Given the description of an element on the screen output the (x, y) to click on. 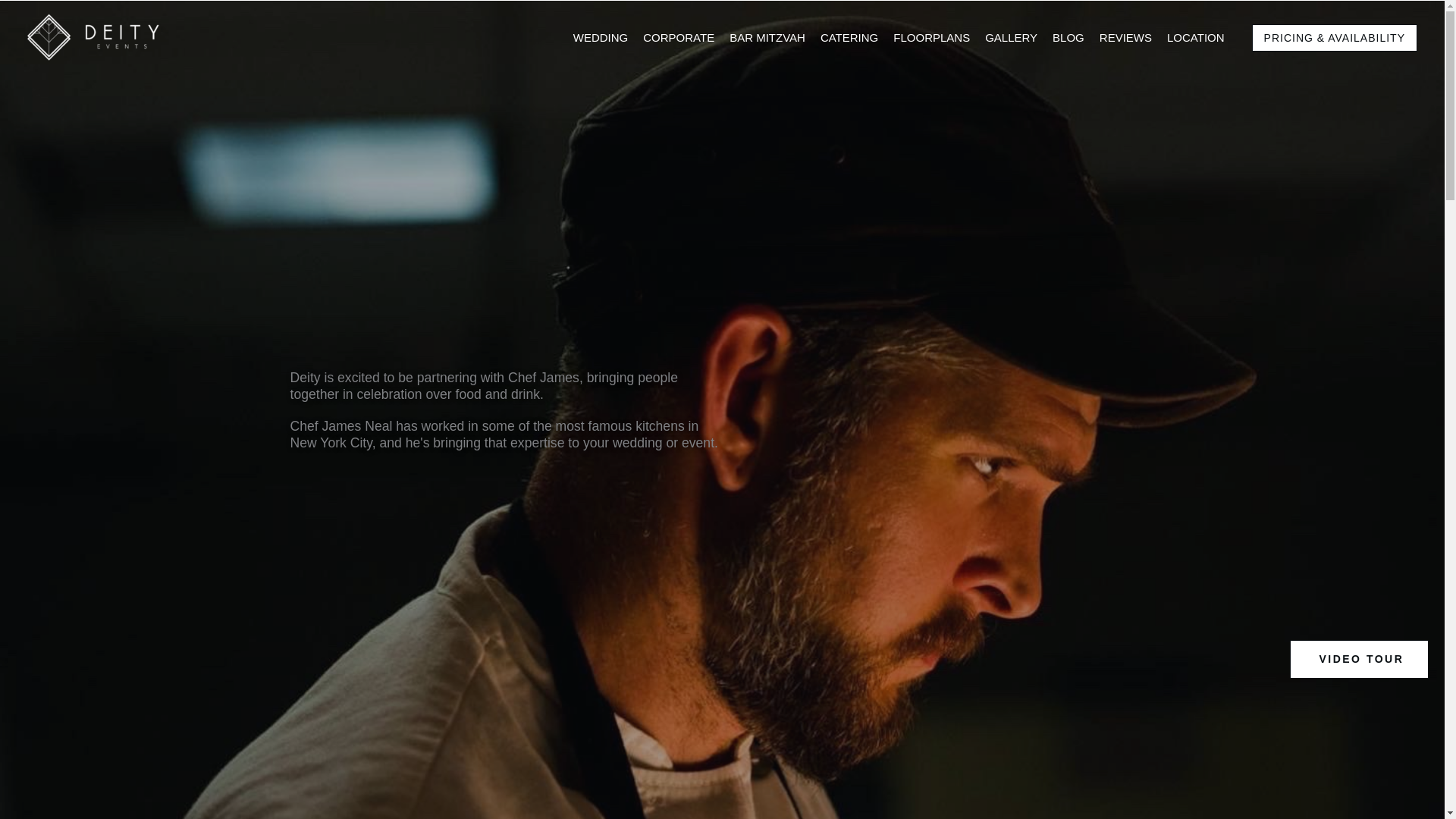
GALLERY (1014, 38)
FLOORPLANS (935, 38)
wedding (637, 442)
REVIEWS (1129, 38)
CORPORATE (682, 38)
BAR MITZVAH (770, 38)
BLOG (1072, 38)
WEDDING (604, 38)
CATERING (852, 38)
LOCATION (1199, 38)
